Given the description of an element on the screen output the (x, y) to click on. 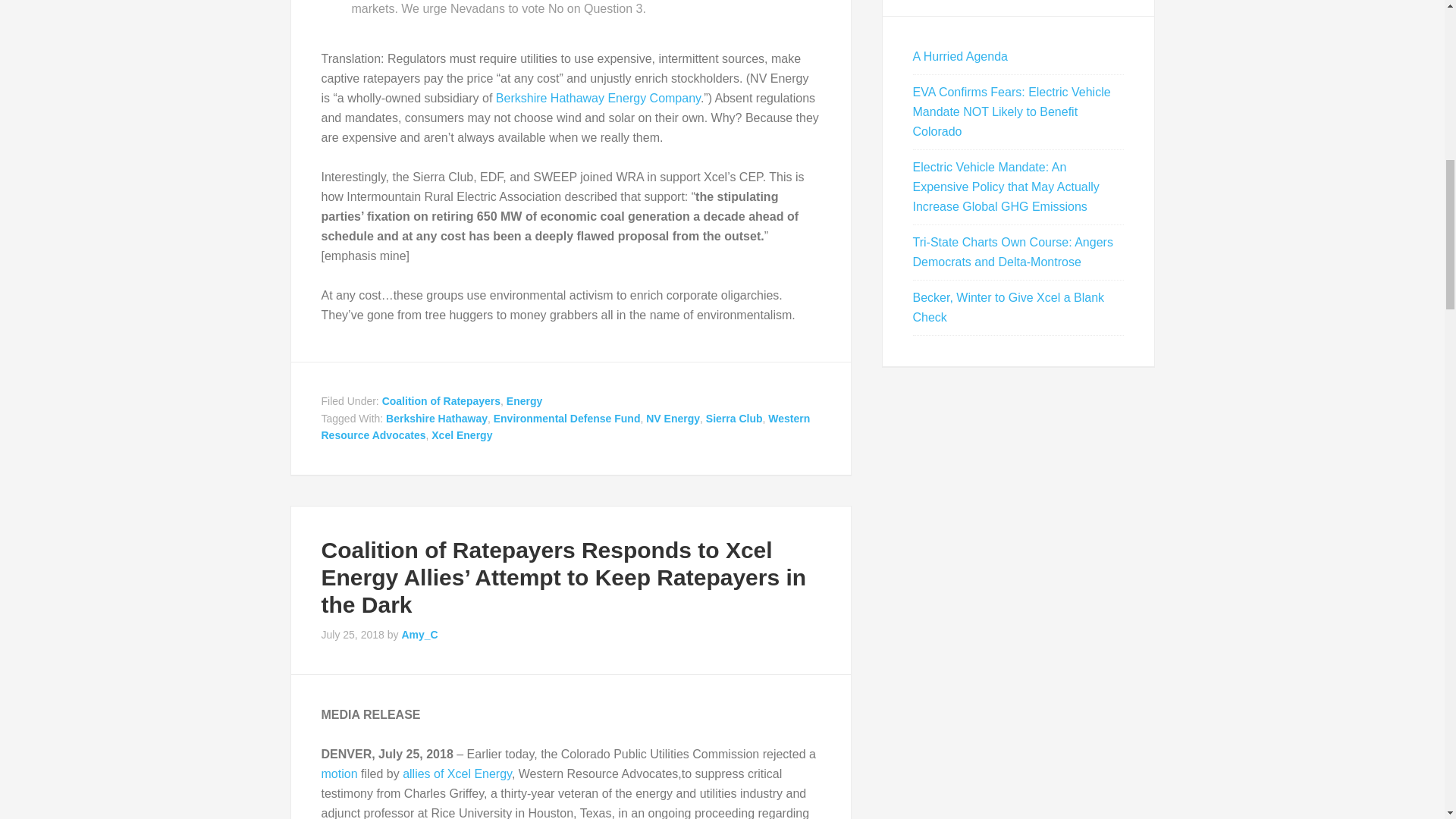
Energy (523, 400)
Sierra Club (734, 418)
Berkshire Hathaway Energy Company (598, 97)
Berkshire Hathaway (436, 418)
motion (339, 773)
Xcel Energy (461, 435)
Environmental Defense Fund (566, 418)
NV Energy (673, 418)
Western Resource Advocates (565, 427)
allies of Xcel Energy (457, 773)
